Given the description of an element on the screen output the (x, y) to click on. 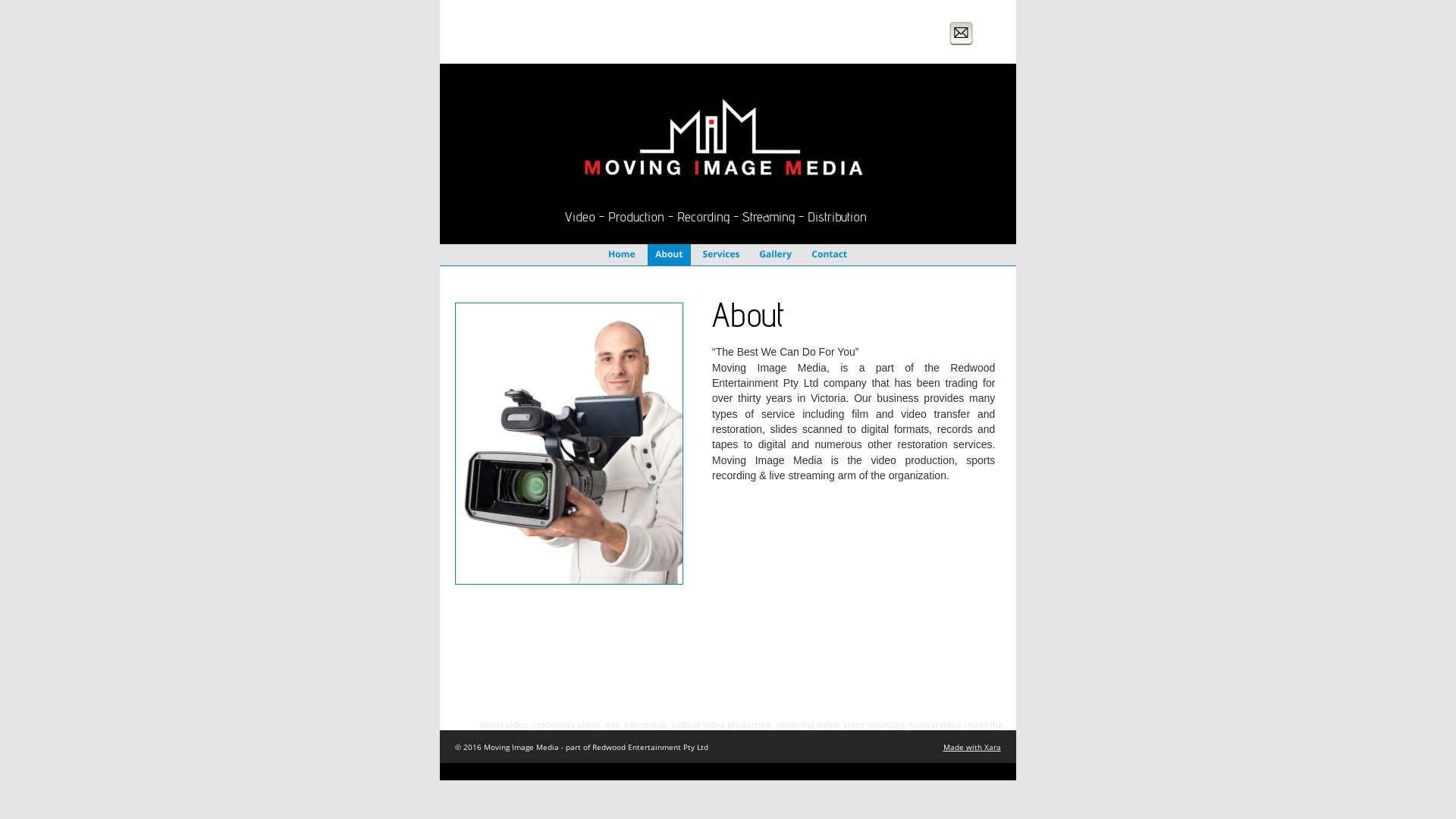
Made with Xara Element type: text (972, 746)
